Given the description of an element on the screen output the (x, y) to click on. 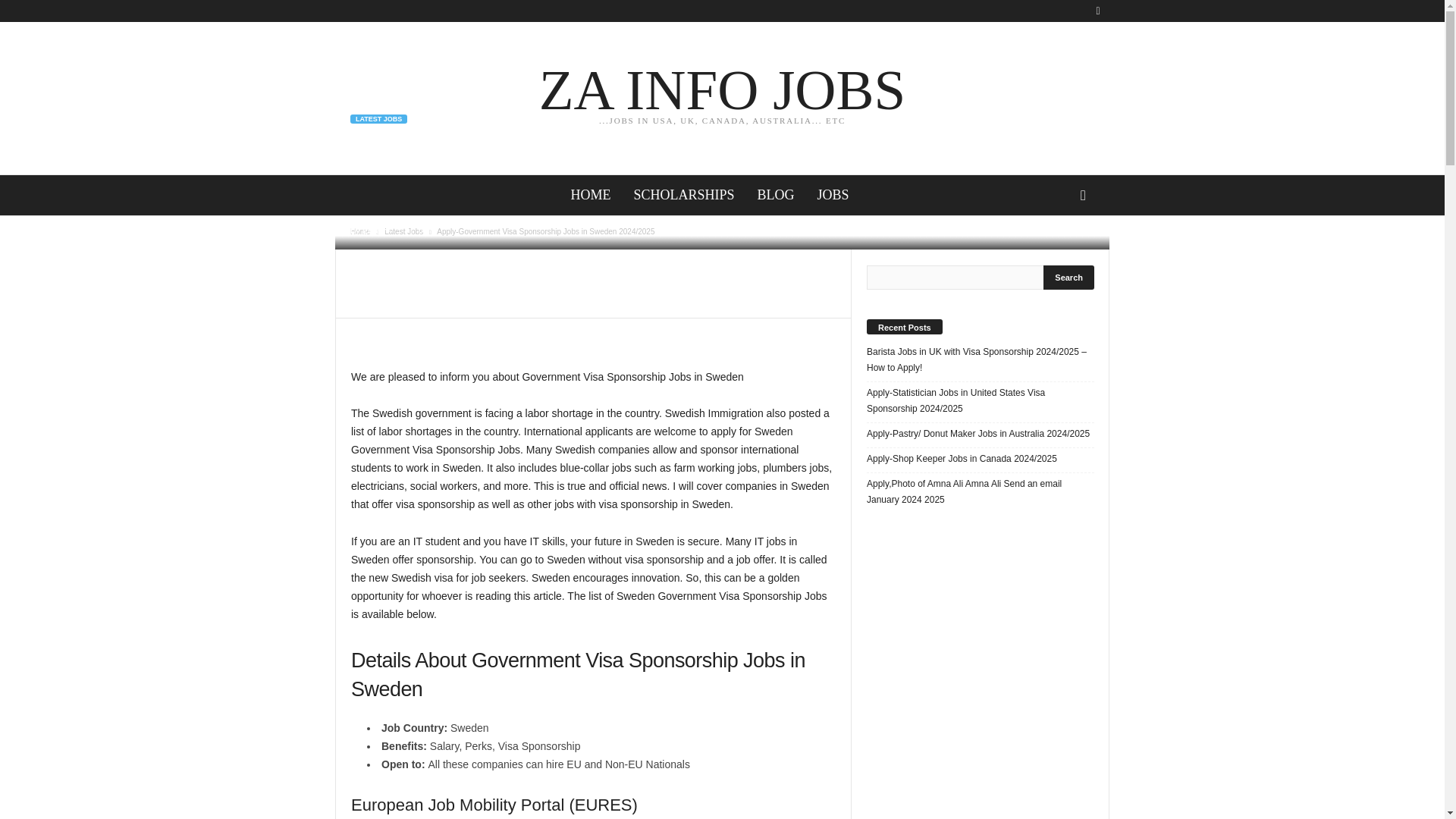
View all posts in Latest Jobs (403, 231)
Home (360, 231)
Latest Jobs (403, 231)
LATEST JOBS (378, 118)
0 (722, 97)
Emem (413, 230)
HOME (374, 230)
BLOG (590, 195)
SCHOLARSHIPS (775, 195)
Search (683, 195)
JOBS (1068, 277)
